Given the description of an element on the screen output the (x, y) to click on. 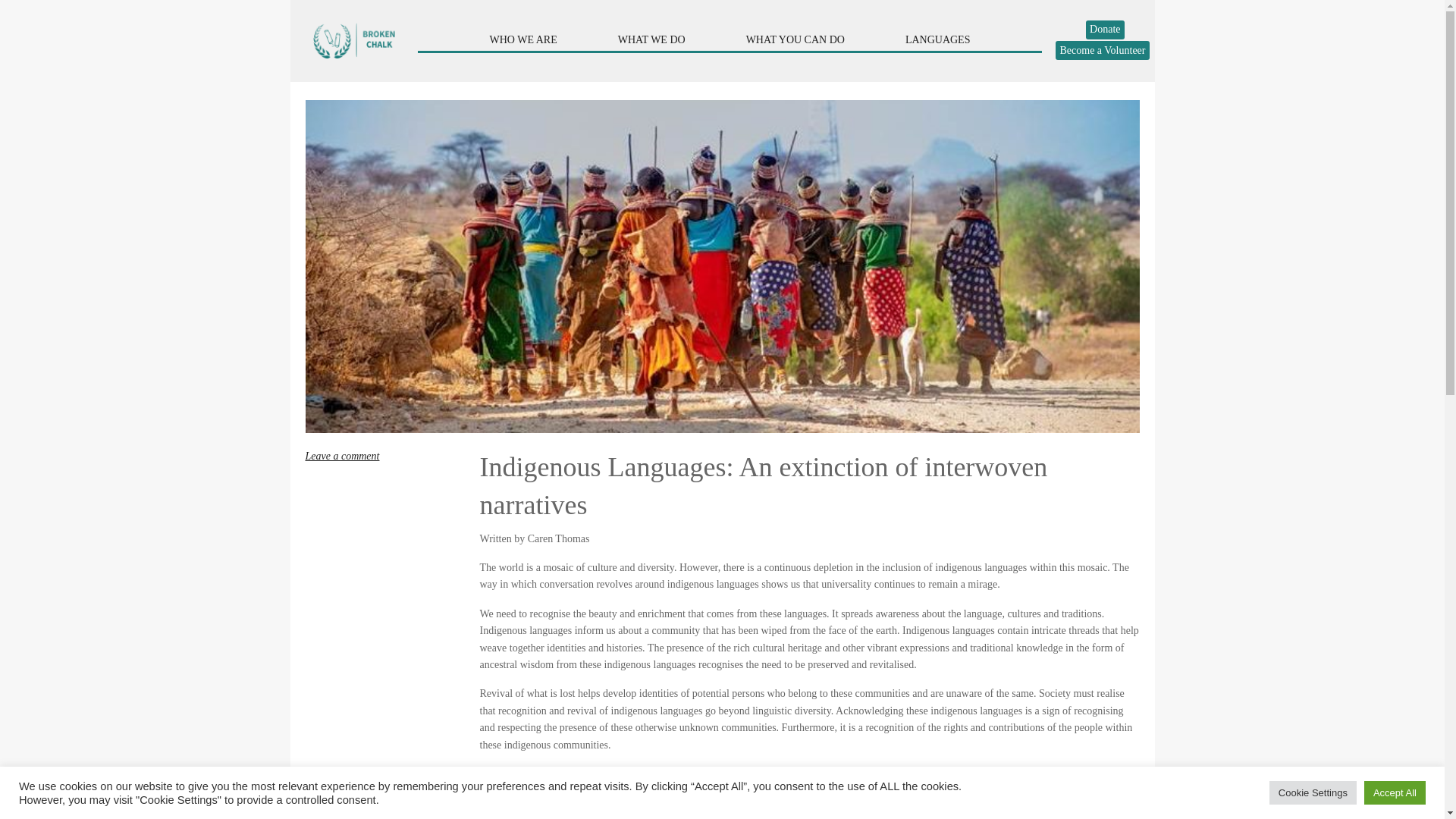
WHAT WE DO (651, 39)
WHO WE ARE (523, 39)
WHAT YOU CAN DO (795, 39)
LANGUAGES (937, 39)
